Given the description of an element on the screen output the (x, y) to click on. 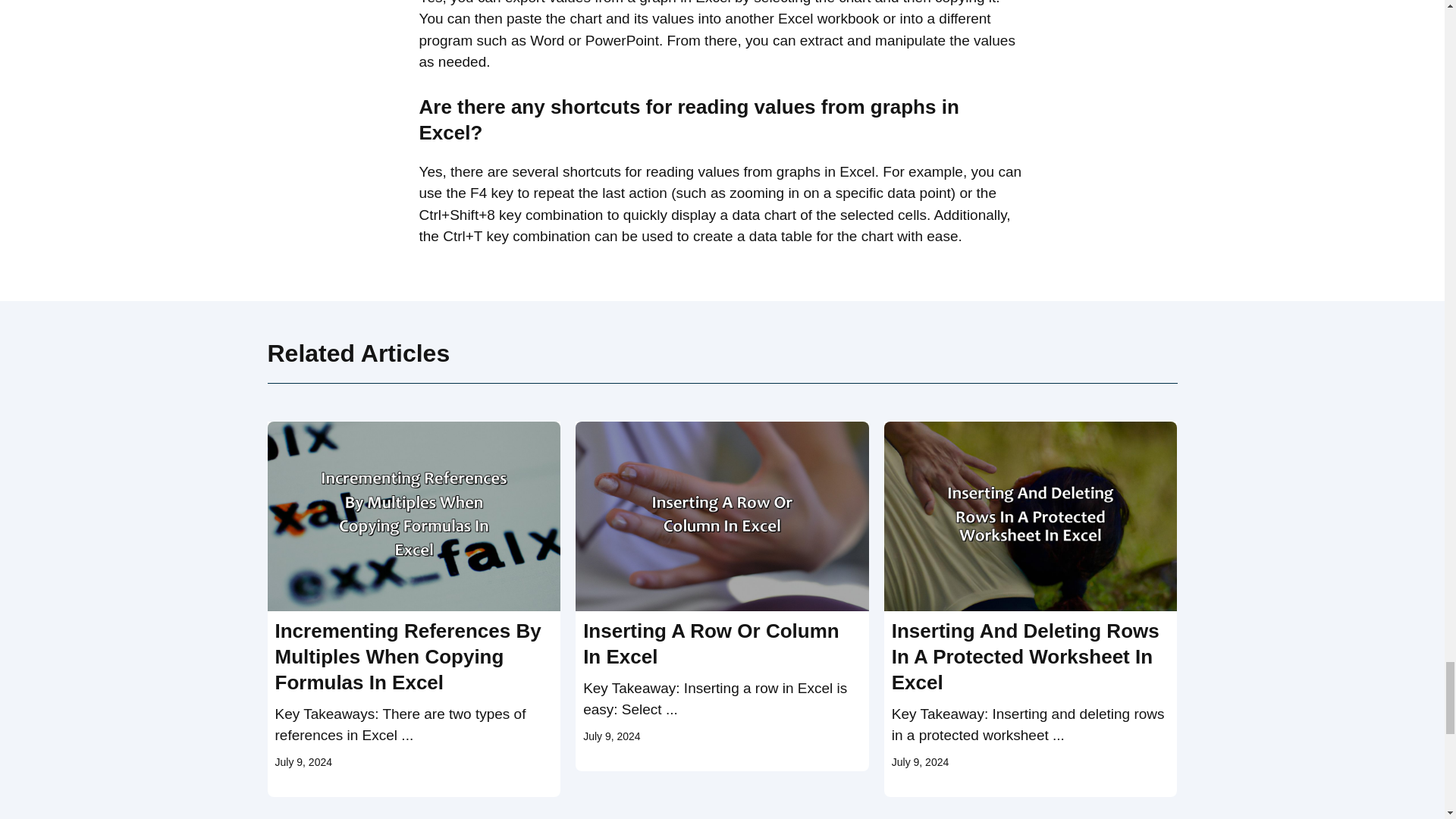
Inserting A Row Or Column In Excel (711, 643)
